Given the description of an element on the screen output the (x, y) to click on. 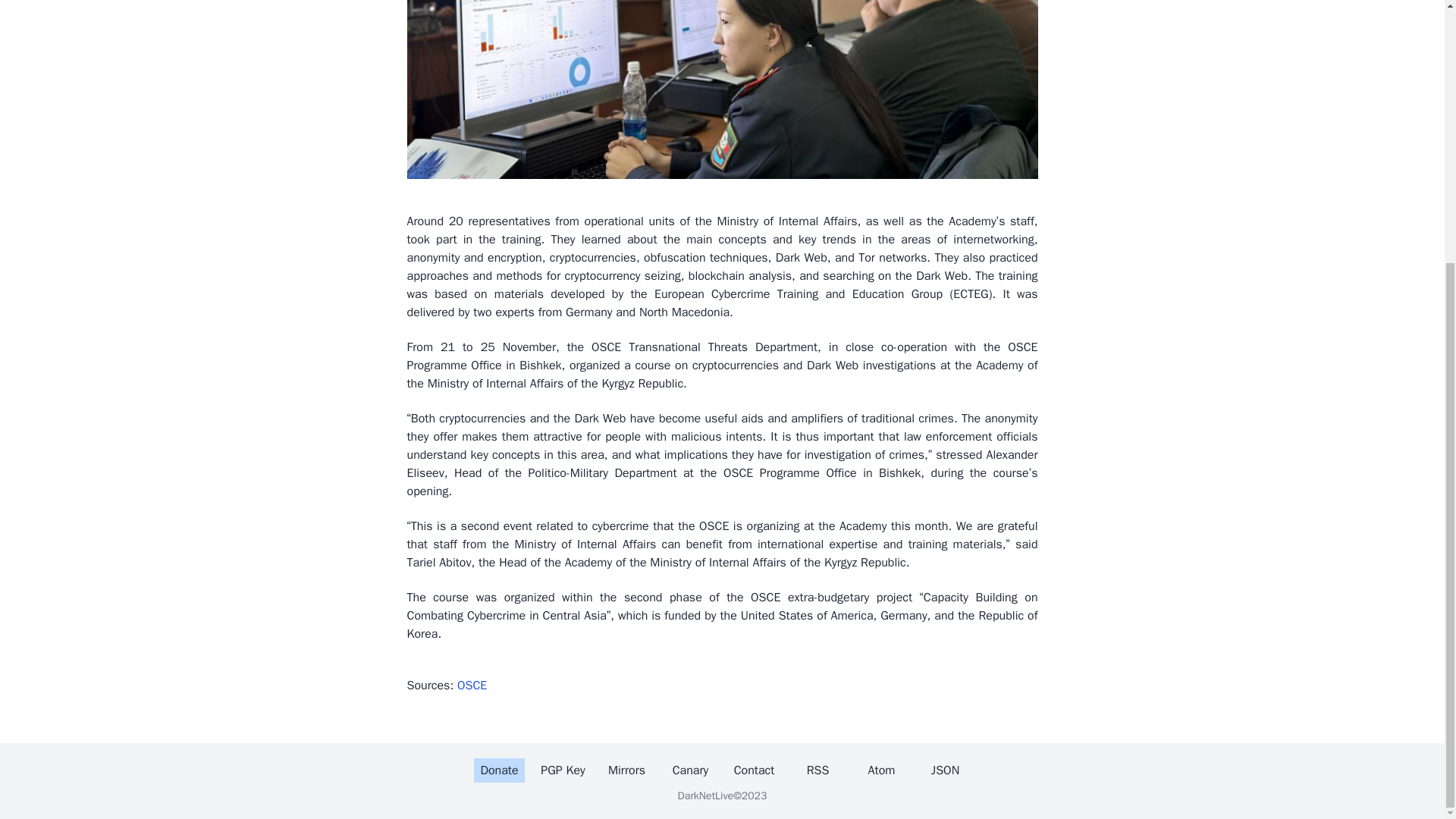
Canary (690, 770)
PGP Key (562, 770)
OSCE (471, 685)
Contact (753, 770)
RSS (817, 770)
Mirrors (626, 770)
Atom (881, 770)
JSON (945, 770)
